Given the description of an element on the screen output the (x, y) to click on. 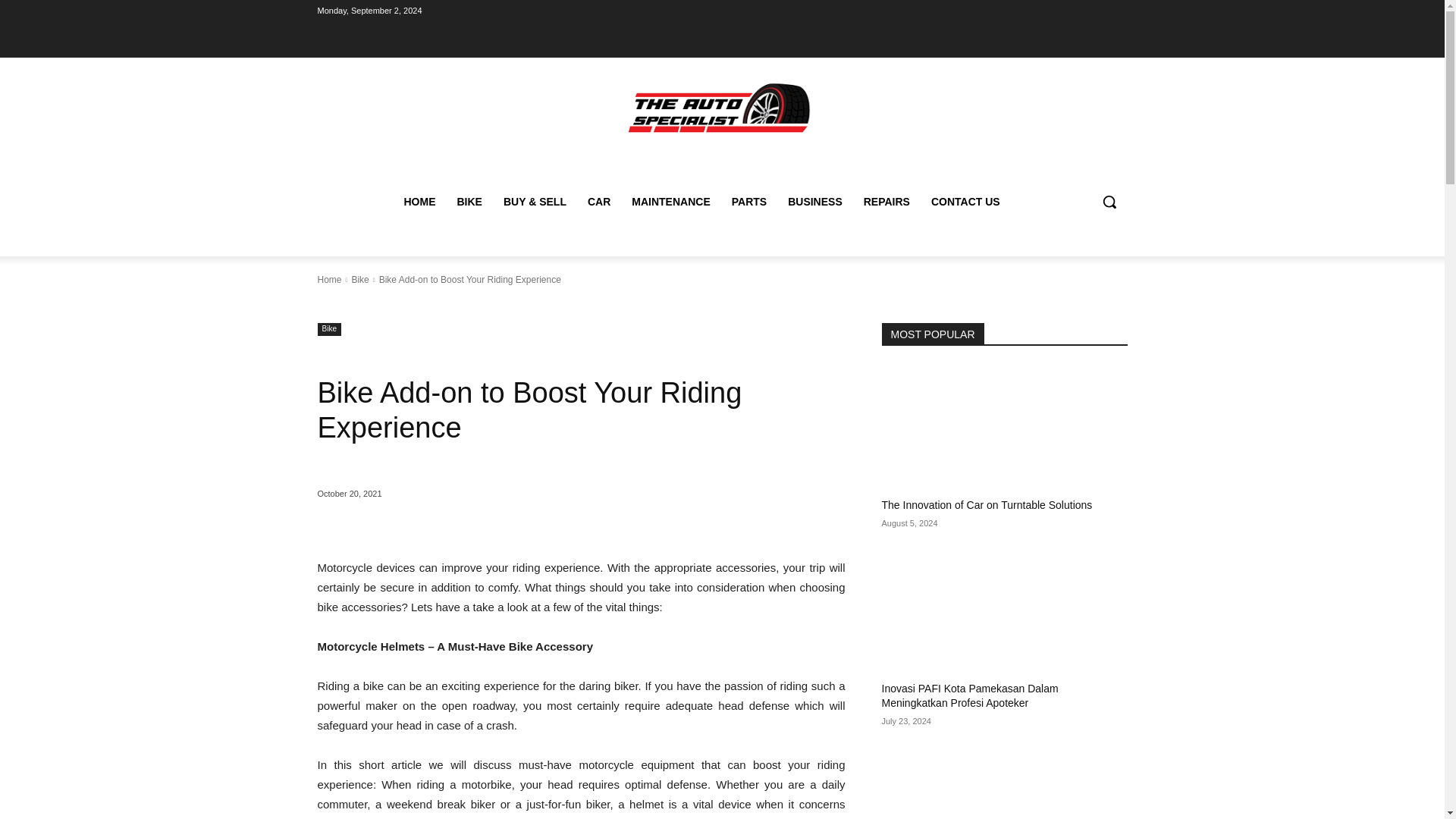
MAINTENANCE (670, 201)
CAR (598, 201)
REPAIRS (886, 201)
Home (328, 279)
HOME (419, 201)
CONTACT US (965, 201)
Bike (328, 328)
View all posts in Bike (359, 279)
Bike (359, 279)
